Given the description of an element on the screen output the (x, y) to click on. 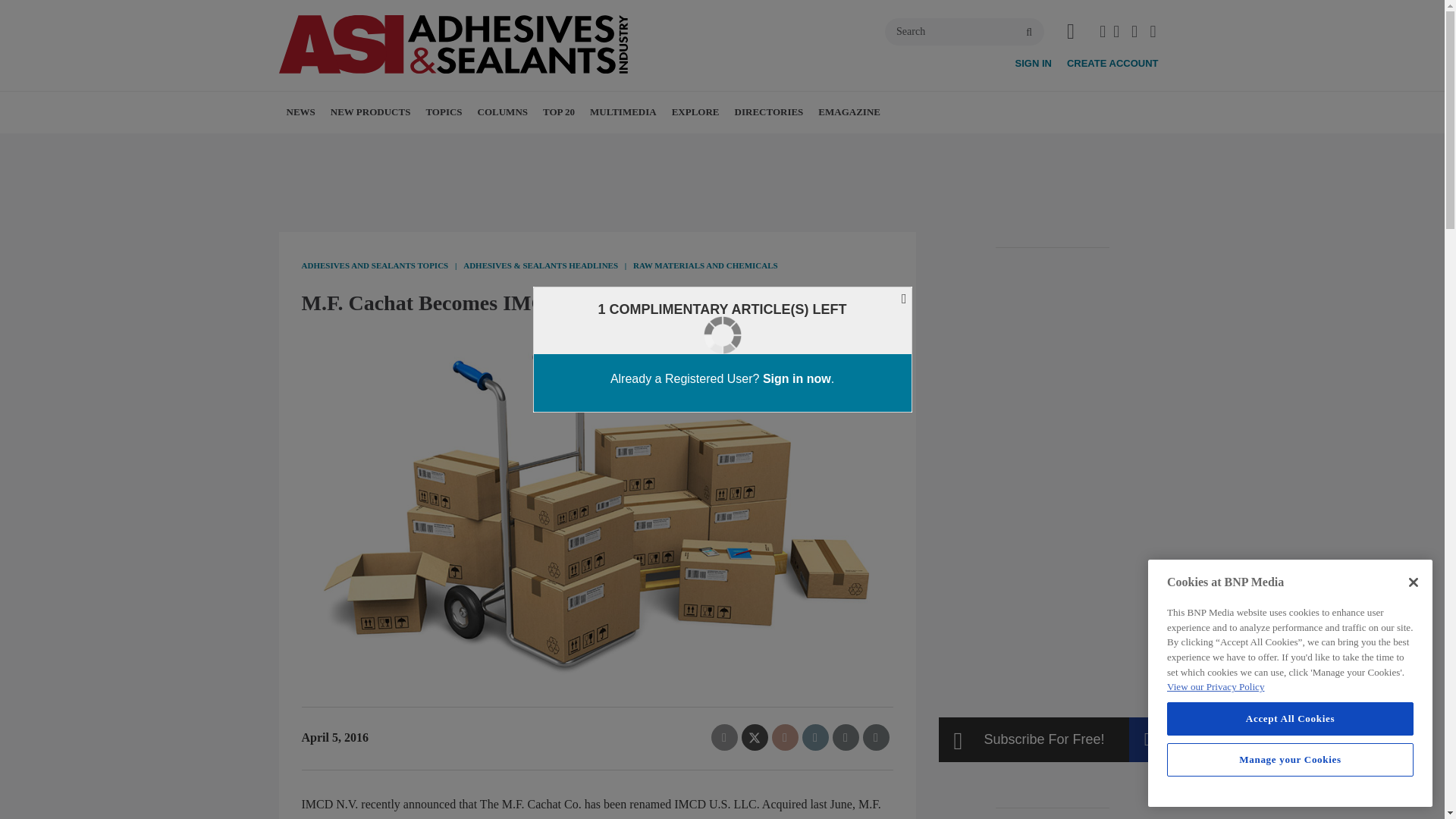
Search (964, 31)
Search (964, 31)
